Given the description of an element on the screen output the (x, y) to click on. 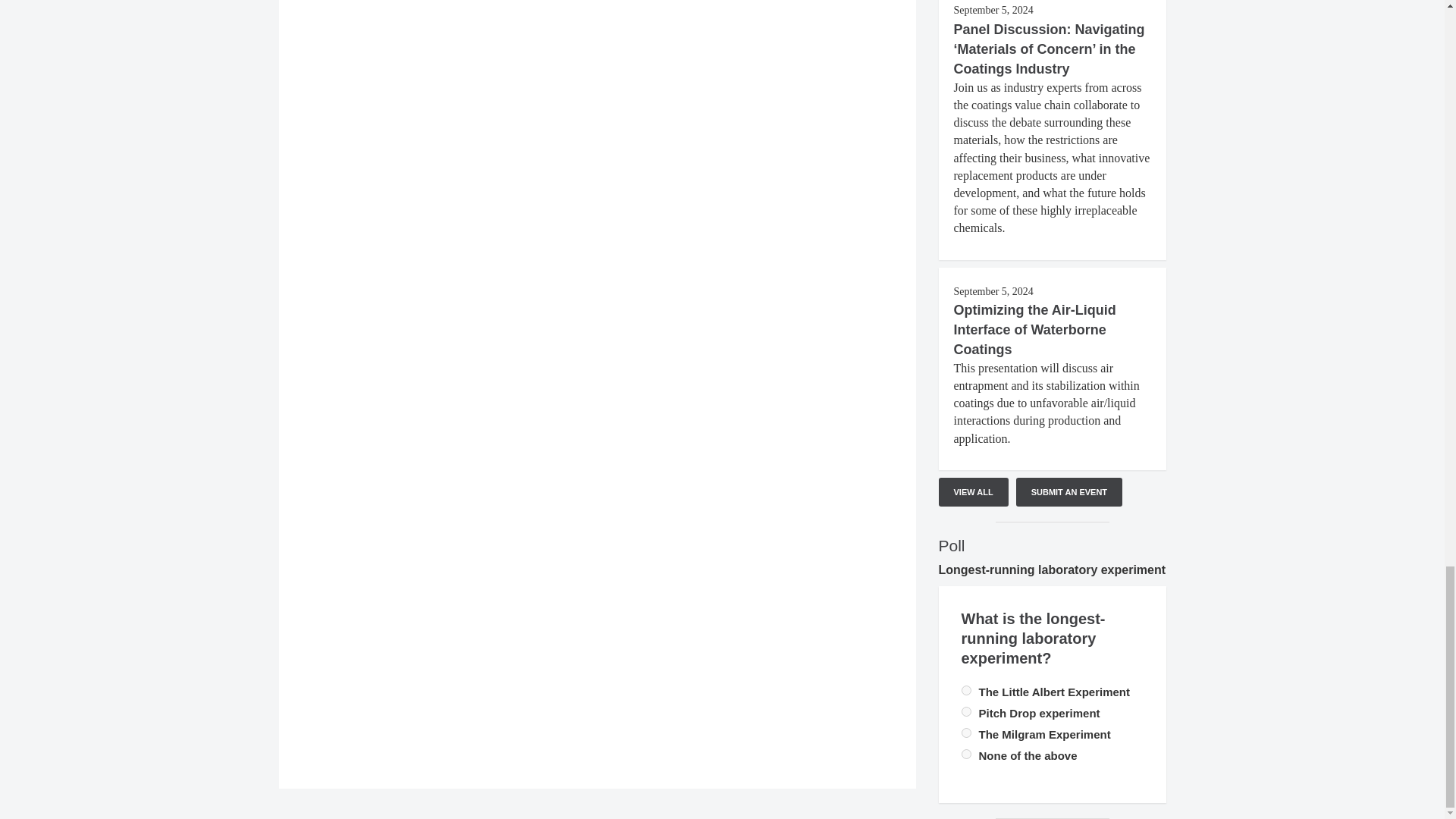
233 (965, 690)
232 (965, 732)
Optimizing the Air-Liquid Interface of Waterborne Coatings (1034, 329)
231 (965, 754)
230 (965, 711)
